Given the description of an element on the screen output the (x, y) to click on. 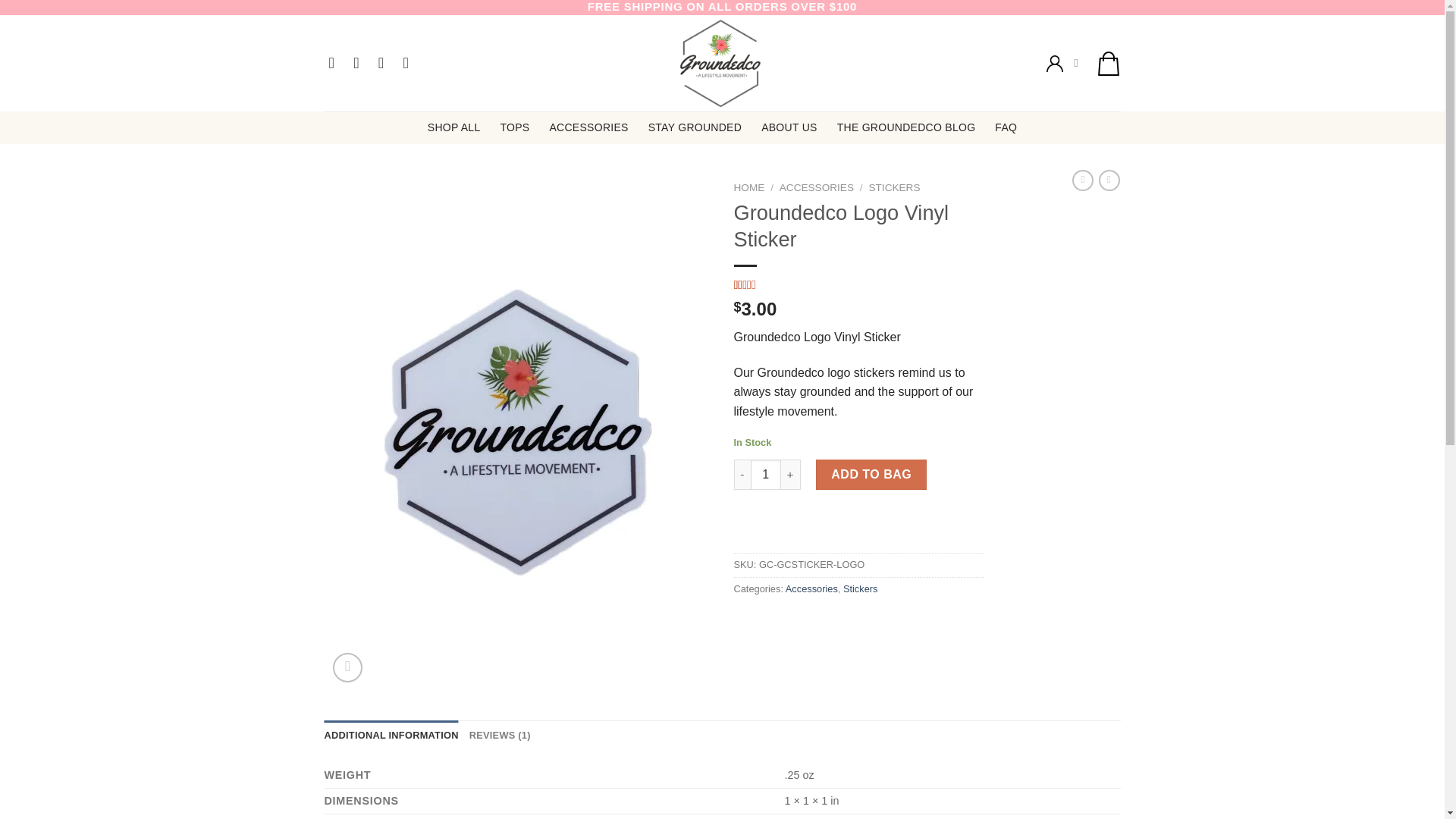
TOPS (514, 127)
Send us an email (385, 62)
Follow on Pinterest (410, 62)
Zoom (347, 667)
ABOUT US (788, 127)
STAY GROUNDED (694, 127)
THE GROUNDEDCO BLOG (906, 127)
1 (765, 474)
Follow on Instagram (360, 62)
ACCESSORIES (587, 127)
